Given the description of an element on the screen output the (x, y) to click on. 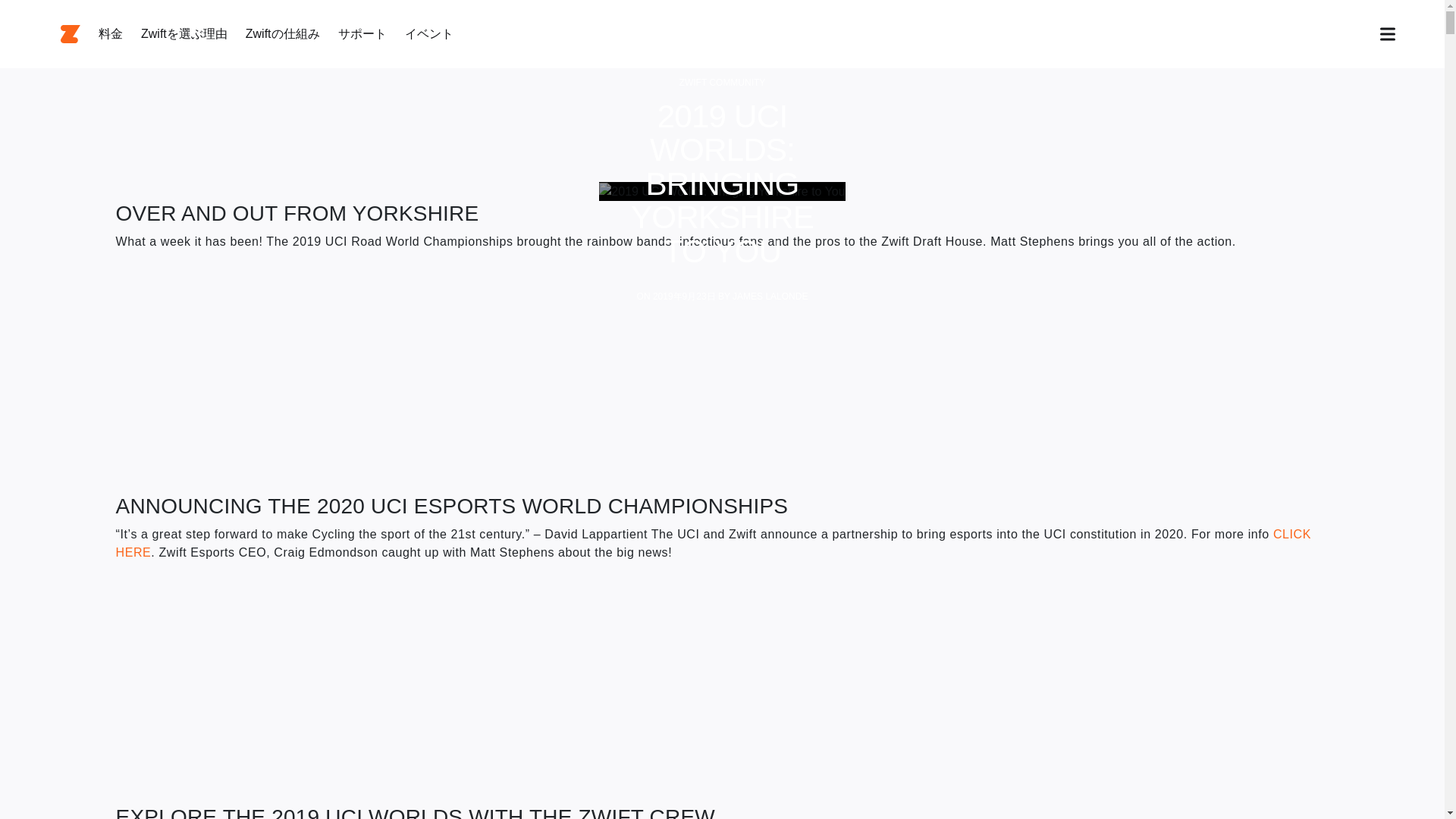
Announcing The 2020 UCI eSports World Championships on Zwift (305, 680)
CLICK HERE (713, 542)
Zwift at the Yorkshire 2019 UCI Road World Championships - (305, 368)
